Given the description of an element on the screen output the (x, y) to click on. 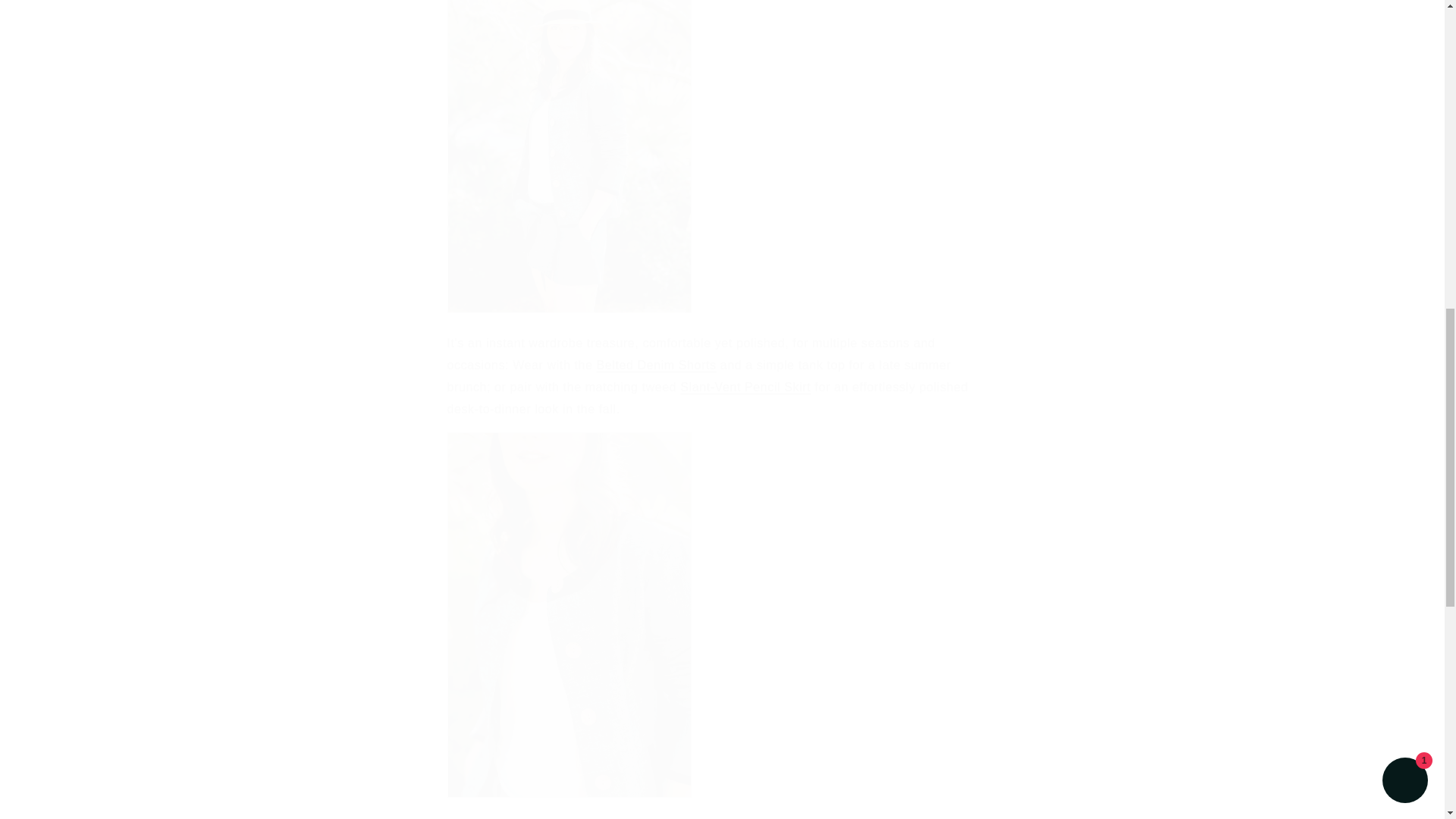
Belted Pin-Tuck Shorts - organic cotton indigo twill (656, 364)
Slant-Vent Pencil Skirt in tonal tweed (744, 386)
